Given the description of an element on the screen output the (x, y) to click on. 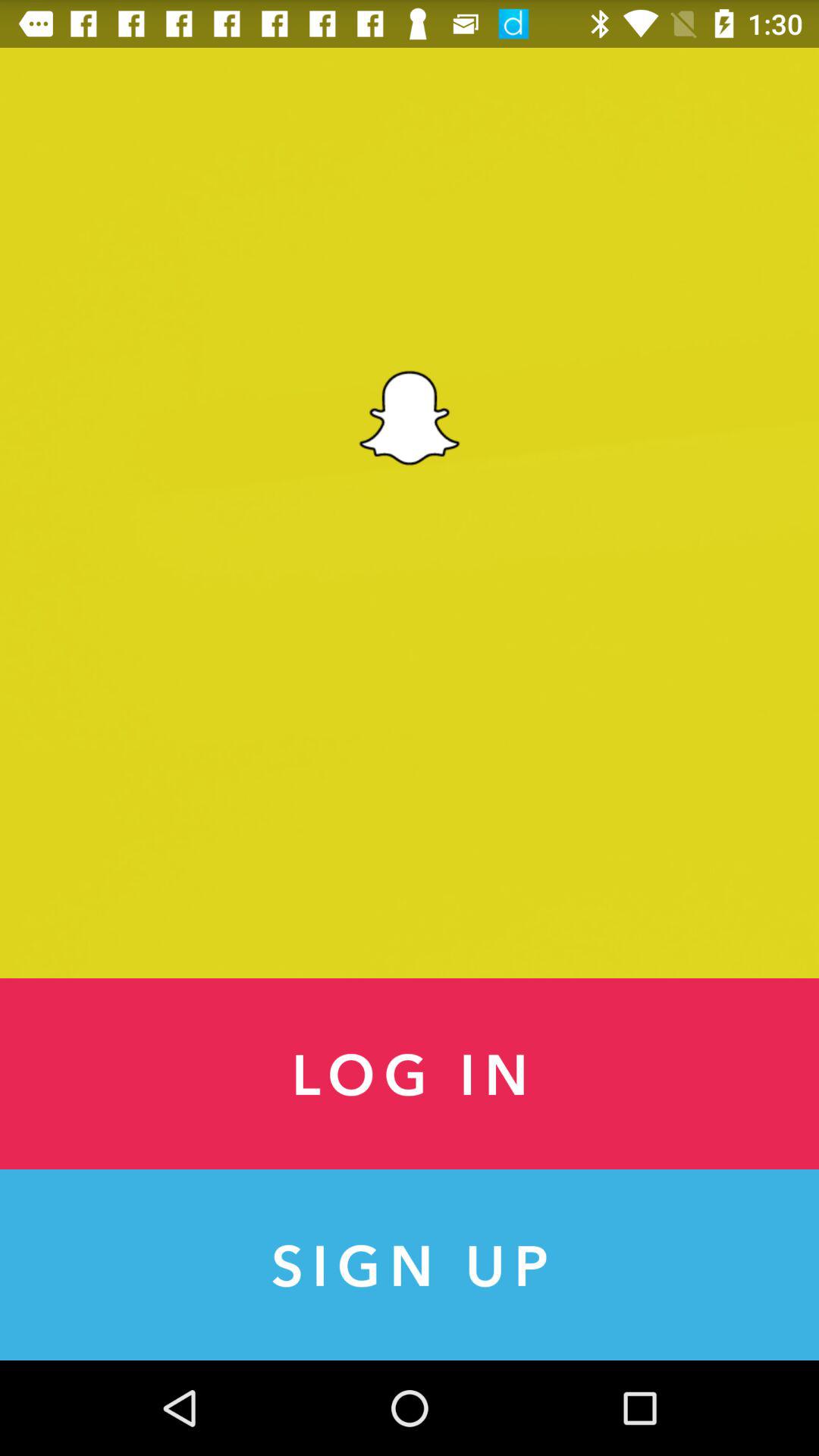
launch the sign up item (409, 1264)
